Given the description of an element on the screen output the (x, y) to click on. 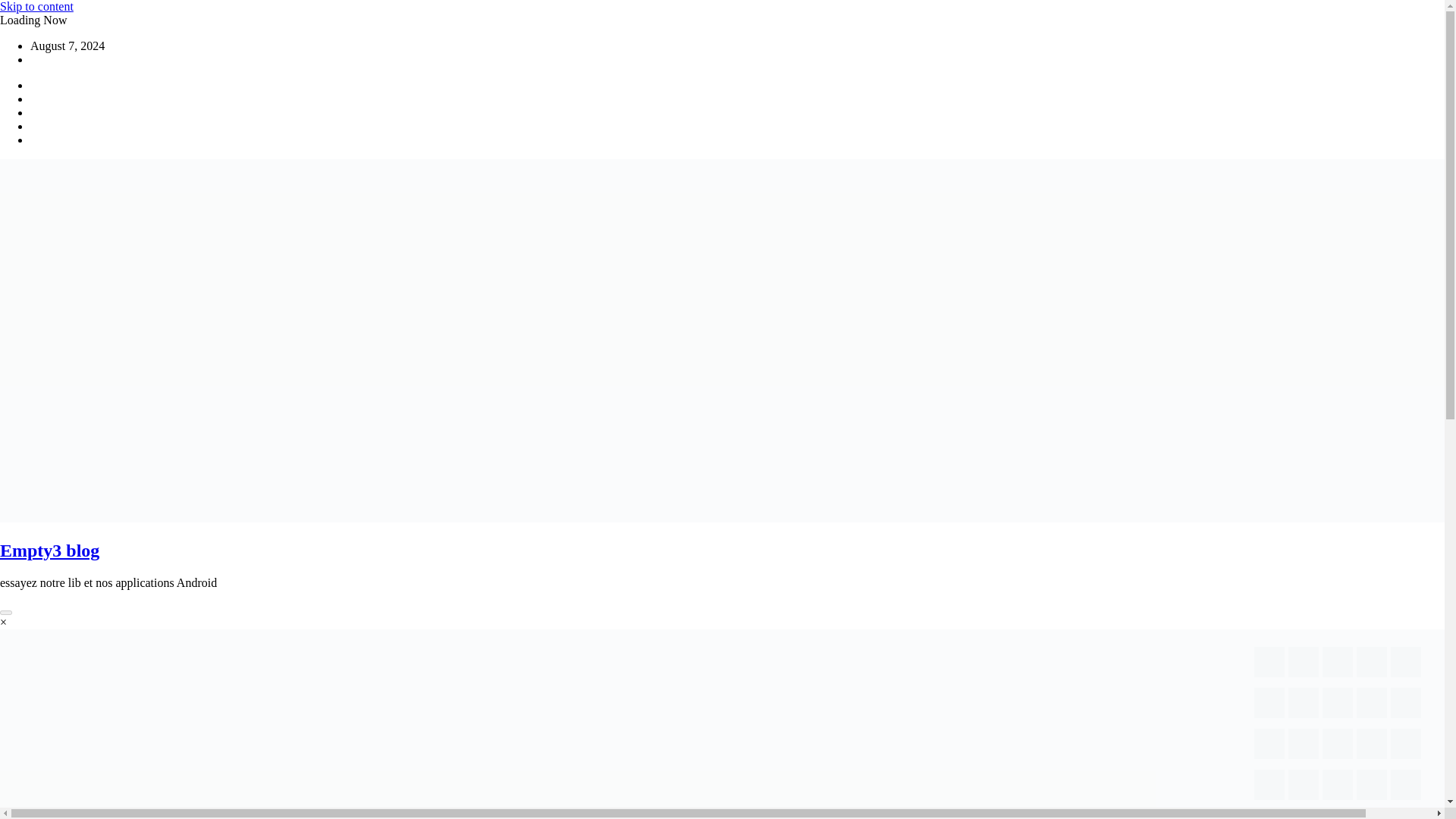
Empty3 blog (49, 550)
Empty3 blog (49, 550)
Skip to content (37, 6)
